Given the description of an element on the screen output the (x, y) to click on. 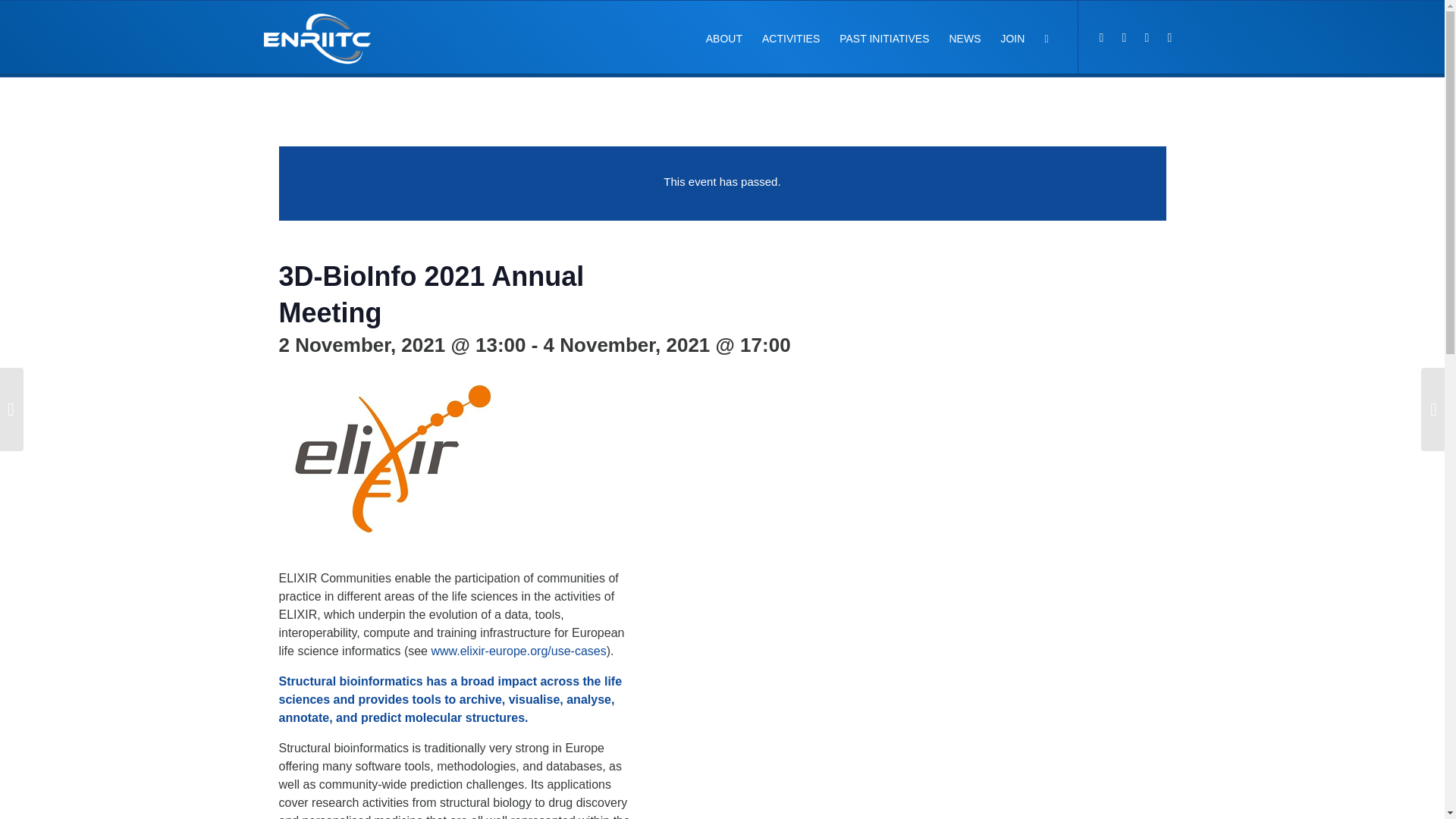
enriitc2 (317, 38)
ACTIVITIES (790, 38)
Youtube (1146, 37)
Mail (1169, 37)
LinkedIn (1124, 37)
Twitter (1101, 37)
PAST INITIATIVES (884, 38)
